Given the description of an element on the screen output the (x, y) to click on. 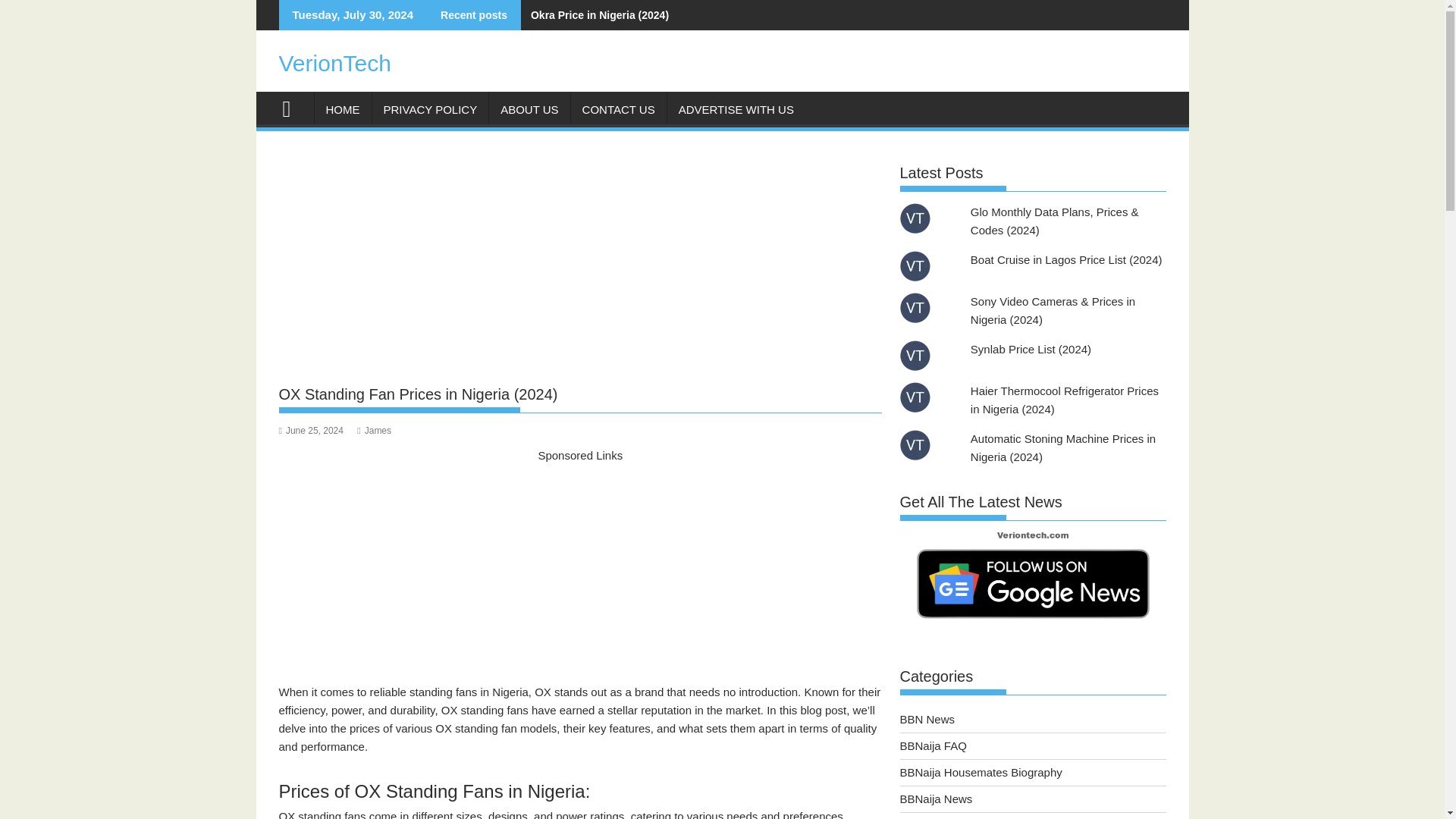
VerionTech (335, 63)
ADVERTISE WITH US (735, 109)
PRIVACY POLICY (429, 109)
Advertisement (580, 264)
ABOUT US (529, 109)
June 25, 2024 (311, 430)
James (373, 430)
HOME (342, 109)
Advertisement (580, 571)
CONTACT US (618, 109)
VerionTech (293, 106)
